Given the description of an element on the screen output the (x, y) to click on. 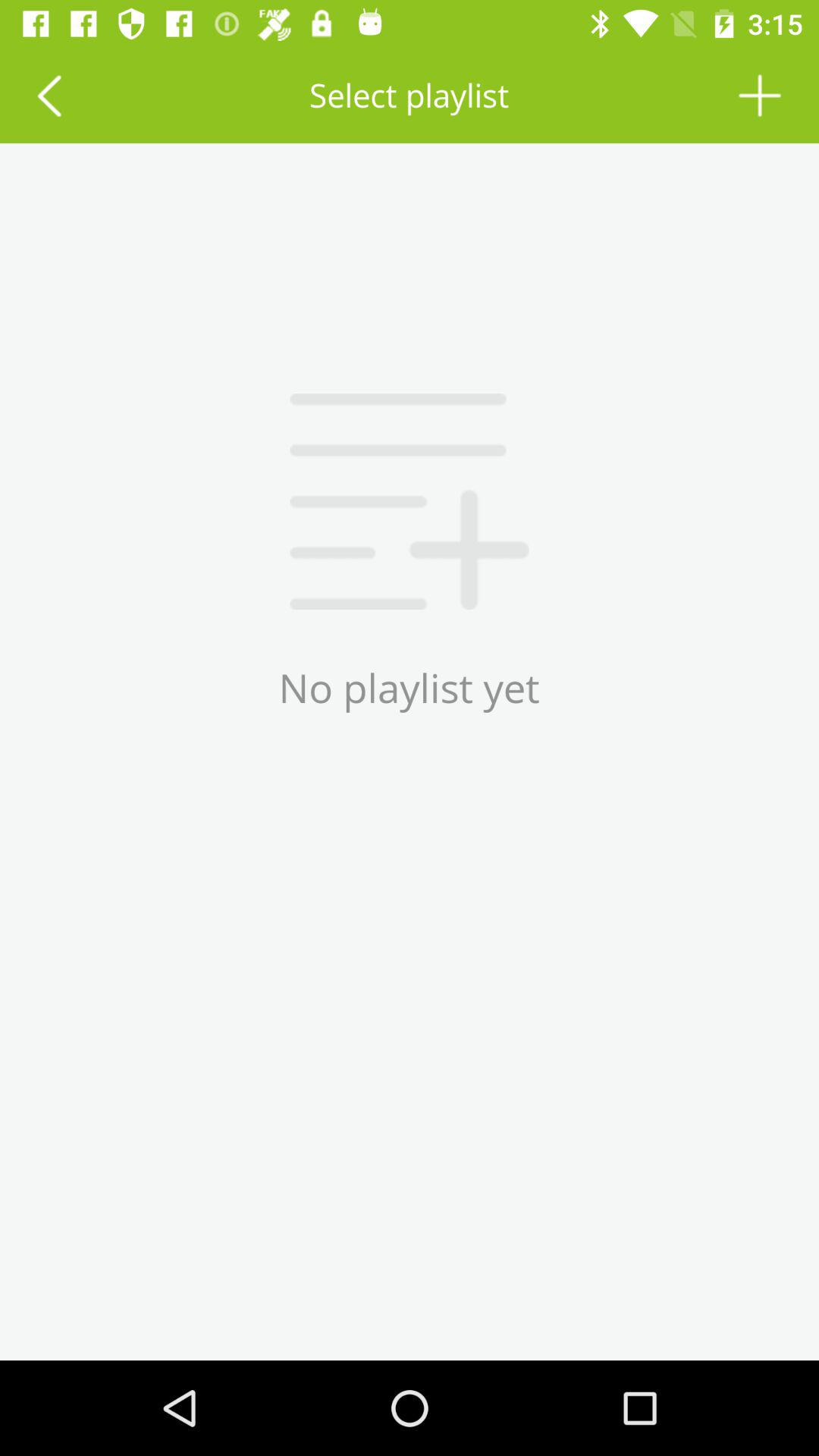
choose the item at the top left corner (48, 95)
